Given the description of an element on the screen output the (x, y) to click on. 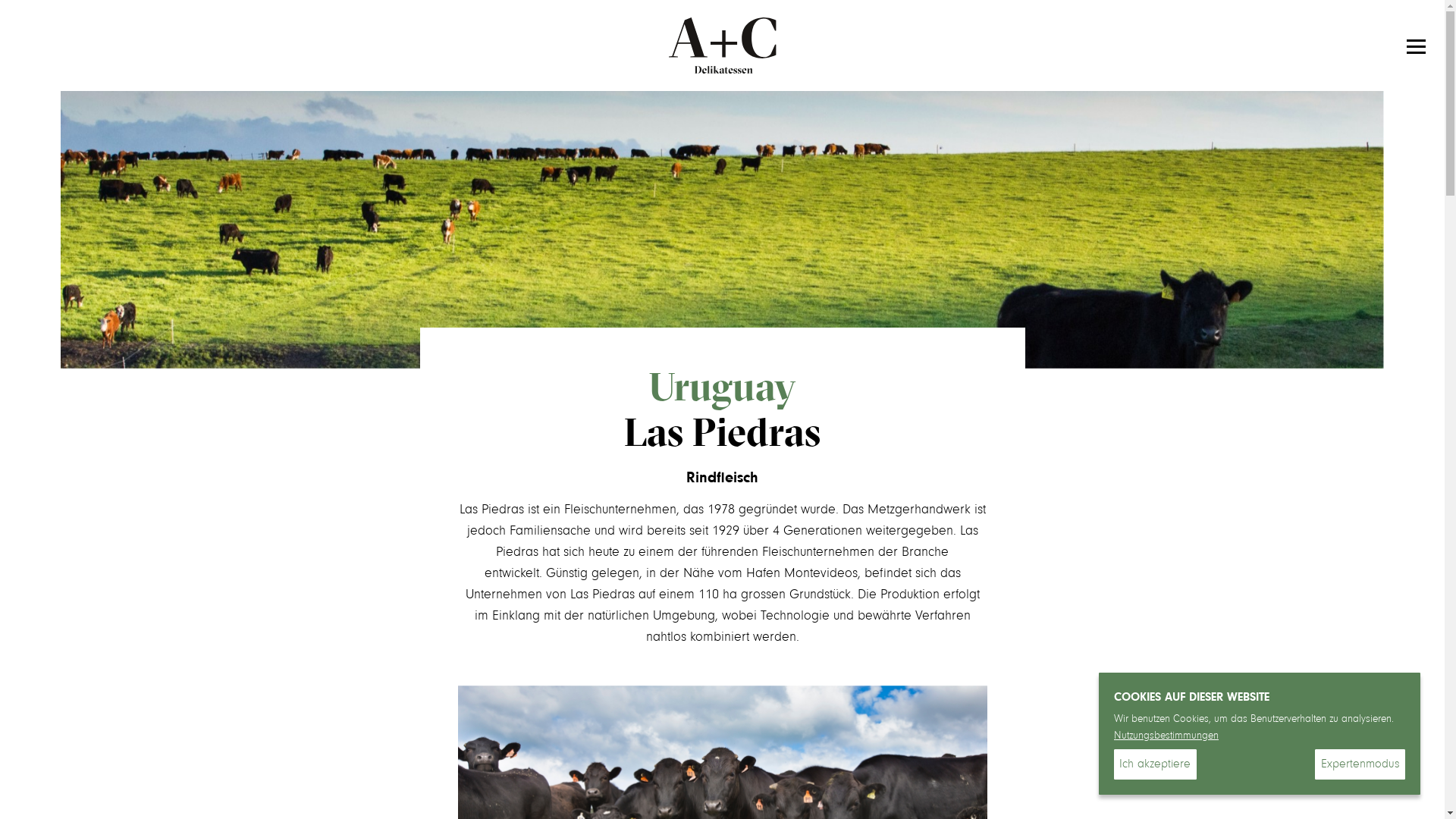
Nutzungsbestimmungen Element type: text (1165, 736)
Ich akzeptiere Element type: text (1154, 764)
Expertenmodus Element type: text (1359, 764)
